Given the description of an element on the screen output the (x, y) to click on. 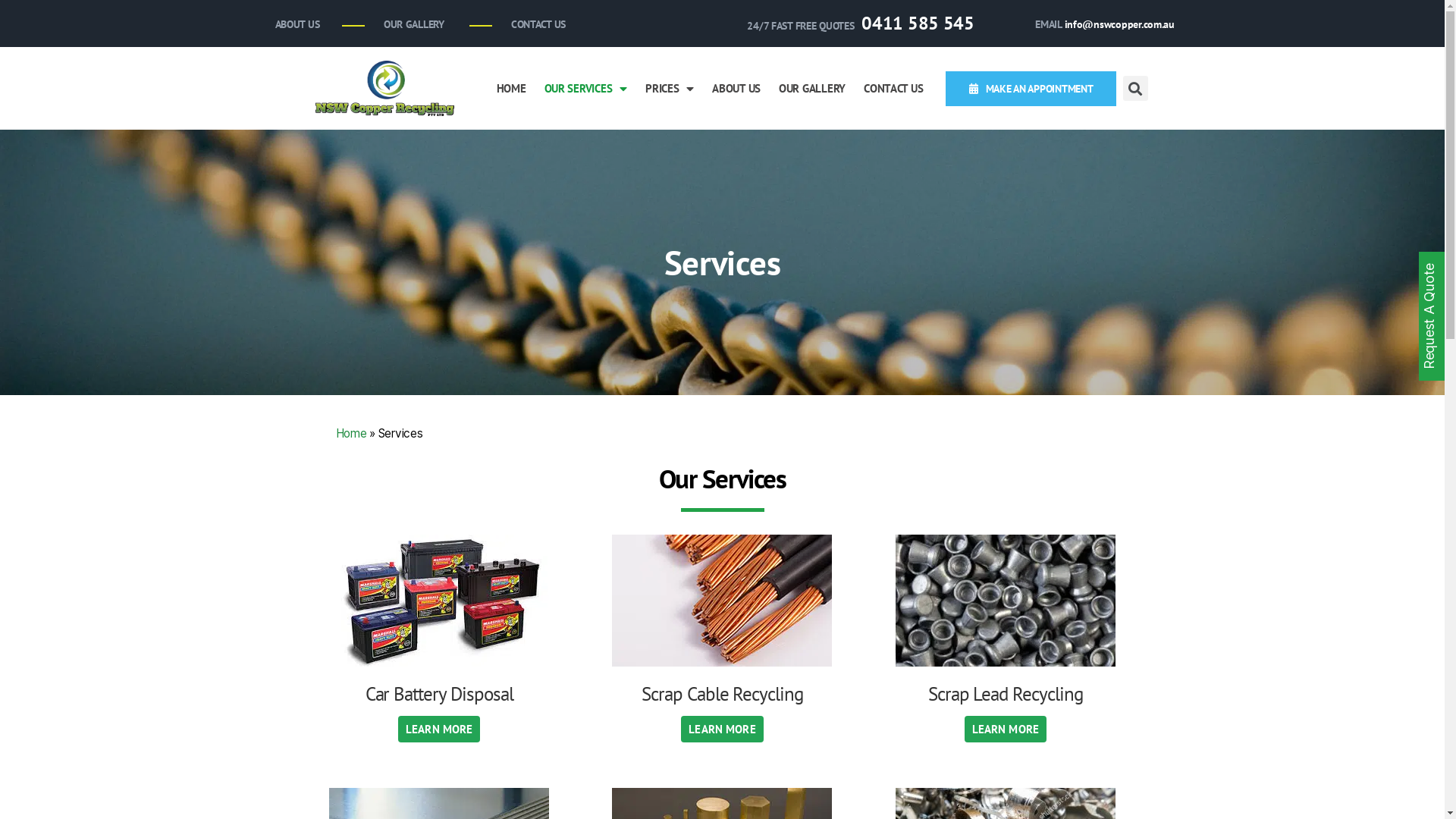
CONTACT US Element type: text (892, 88)
LEARN MORE Element type: text (721, 728)
OUR SERVICES Element type: text (586, 88)
ABOUT US Element type: text (735, 88)
MAKE AN APPOINTMENT Element type: text (1031, 88)
OUR GALLERY Element type: text (811, 88)
ABOUT US Element type: text (292, 23)
Home Element type: text (350, 433)
24/7 FAST FREE QUOTES 0411 585 545 Element type: text (856, 24)
HOME Element type: text (511, 88)
LEARN MORE Element type: text (439, 728)
PRICES Element type: text (669, 88)
Car Battery Disposal Element type: text (439, 693)
OUR GALLERY Element type: text (410, 23)
Scrap Lead Recycling Element type: text (1005, 693)
Scrap Cable Recycling Element type: text (722, 693)
CONTACT US Element type: text (534, 23)
LEARN MORE Element type: text (1005, 728)
EMAIL info@nswcopper.com.au Element type: text (1100, 23)
